Given the description of an element on the screen output the (x, y) to click on. 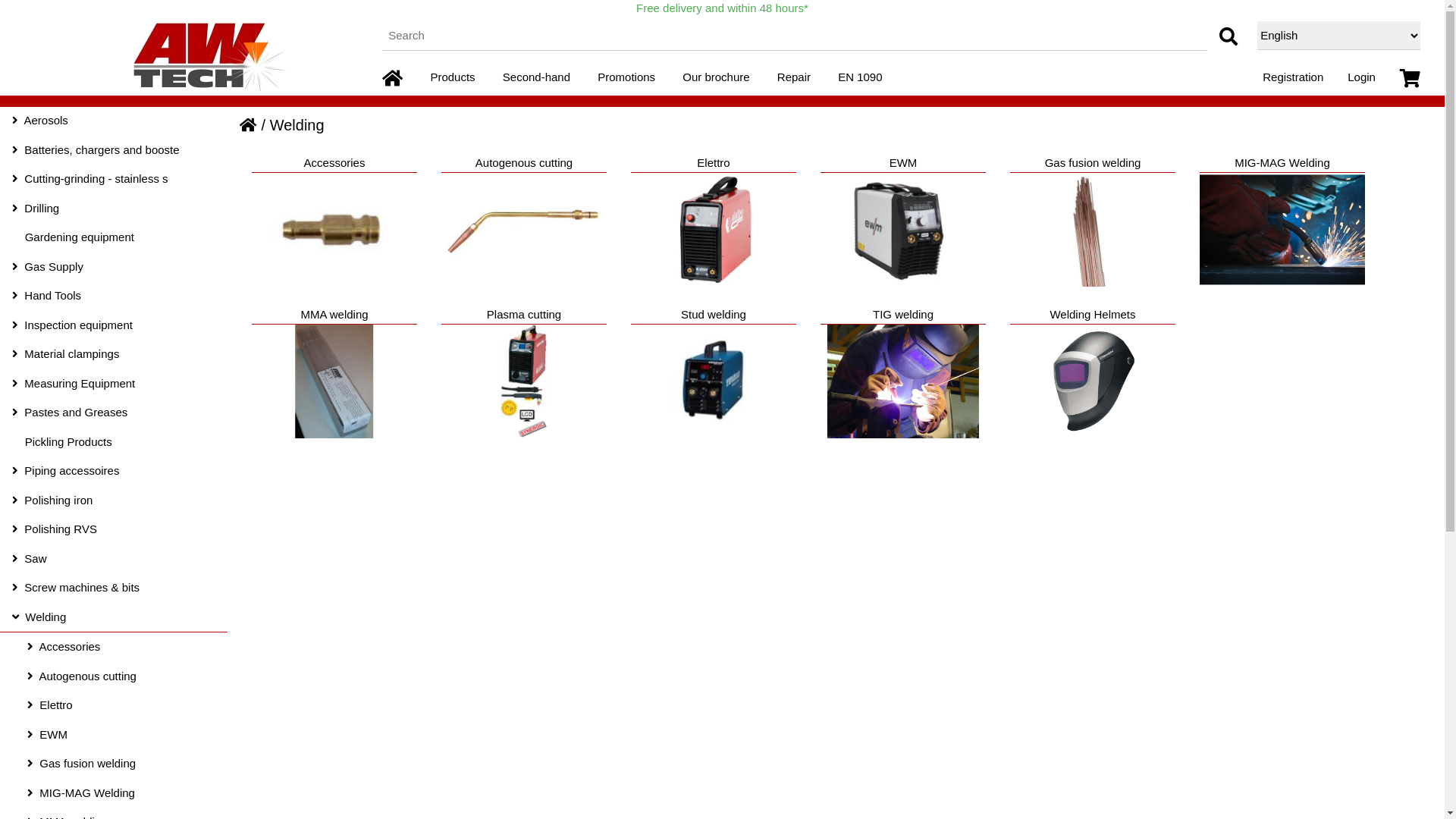
Welding Element type: text (296, 124)
EWM Element type: hover (902, 229)
  Polishing RVS Element type: text (113, 529)
  Screw machines & bits Element type: text (113, 587)
TIG welding Element type: hover (903, 381)
  Polishing iron Element type: text (113, 499)
    Gardening equipment Element type: text (113, 237)
Repair Element type: text (793, 78)
Login Element type: text (1361, 78)
  Hand Tools Element type: text (113, 295)
  Accessories Element type: text (113, 647)
Gas fusion welding Element type: text (1092, 224)
  MIG-MAG Welding Element type: text (113, 792)
  Elettro Element type: text (113, 705)
  EWM Element type: text (113, 734)
Our brochure Element type: text (715, 78)
Welding Helmets Element type: hover (1092, 381)
MMA welding Element type: text (334, 375)
  Inspection equipment Element type: text (113, 325)
MMA welding Element type: hover (333, 381)
Plasma cutting Element type: text (523, 375)
Accessories Element type: hover (333, 229)
Second-hand Element type: text (536, 78)
  Welding Element type: text (113, 617)
Elettro Element type: hover (713, 229)
Plasma cutting Element type: hover (523, 381)
Accessories Element type: text (334, 224)
Promotions Element type: text (626, 78)
  Gas Supply Element type: text (113, 266)
Registration Element type: text (1292, 78)
Autogenous cutting Element type: hover (523, 229)
  Batteries, chargers and booste Element type: text (113, 149)
    Pickling Products Element type: text (113, 442)
Welding Helmets Element type: text (1092, 375)
Stud welding Element type: hover (712, 380)
  Saw Element type: text (113, 559)
MIG-MAG Welding Element type: hover (1282, 229)
Gas fusion welding Element type: hover (1092, 229)
EN 1090 Element type: text (859, 78)
Elettro Element type: text (713, 224)
  Material clampings Element type: text (113, 354)
TIG welding Element type: text (902, 375)
  Piping accessoires Element type: text (113, 471)
  Gas fusion welding Element type: text (113, 763)
  Measuring Equipment Element type: text (113, 383)
  Drilling Element type: text (113, 208)
  Autogenous cutting Element type: text (113, 675)
Stud welding Element type: text (713, 375)
  Cutting-grinding - stainless s Element type: text (113, 179)
  Aerosols Element type: text (113, 120)
  Pastes and Greases Element type: text (113, 412)
Products Element type: text (451, 78)
MIG-MAG Welding Element type: text (1282, 224)
EWM Element type: text (902, 224)
Autogenous cutting Element type: text (523, 224)
